Given the description of an element on the screen output the (x, y) to click on. 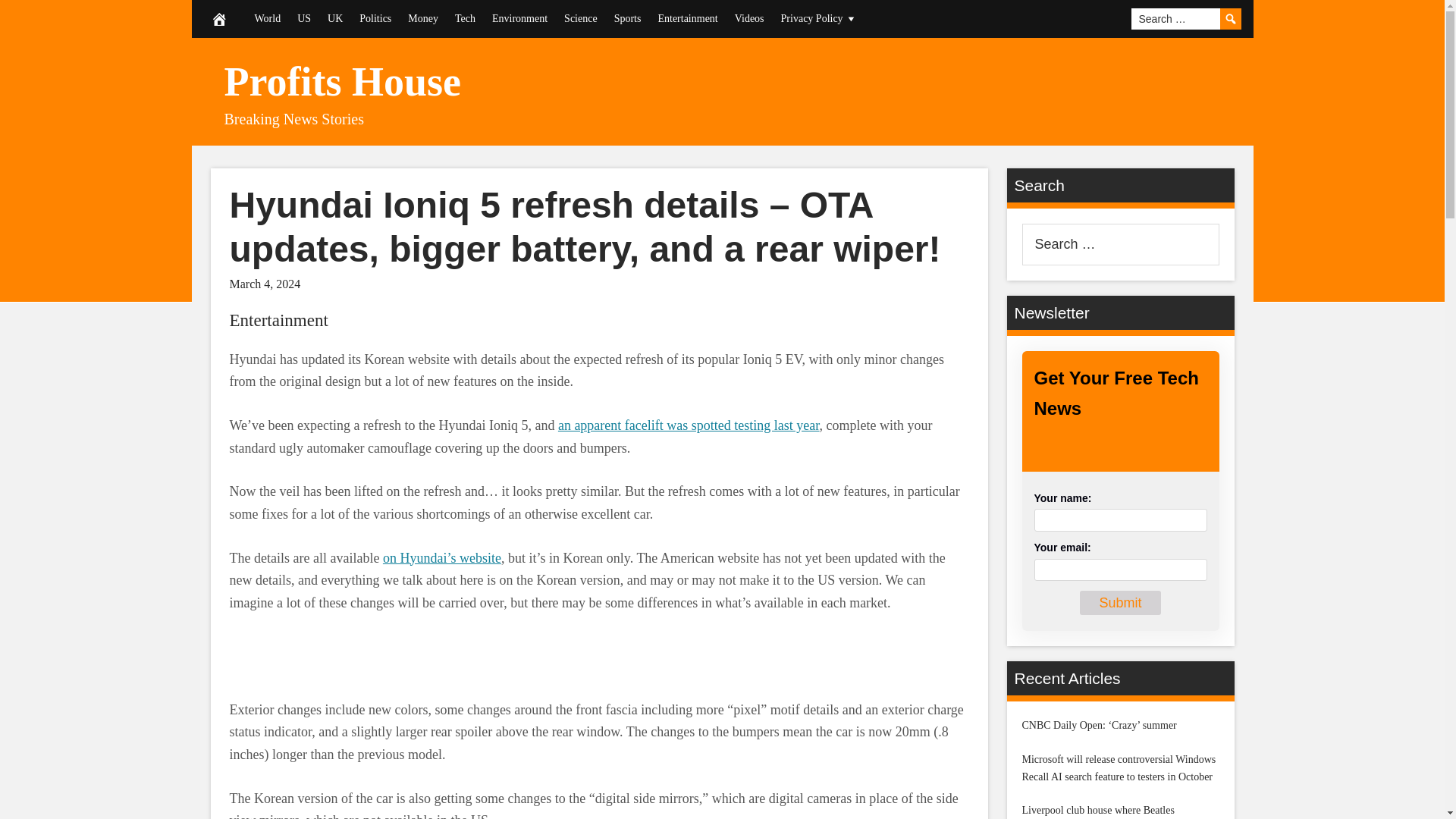
World (267, 18)
Money (422, 18)
Science (580, 18)
Entertainment (277, 320)
Entertainment (687, 18)
Privacy Policy (819, 18)
Videos (749, 18)
